Given the description of an element on the screen output the (x, y) to click on. 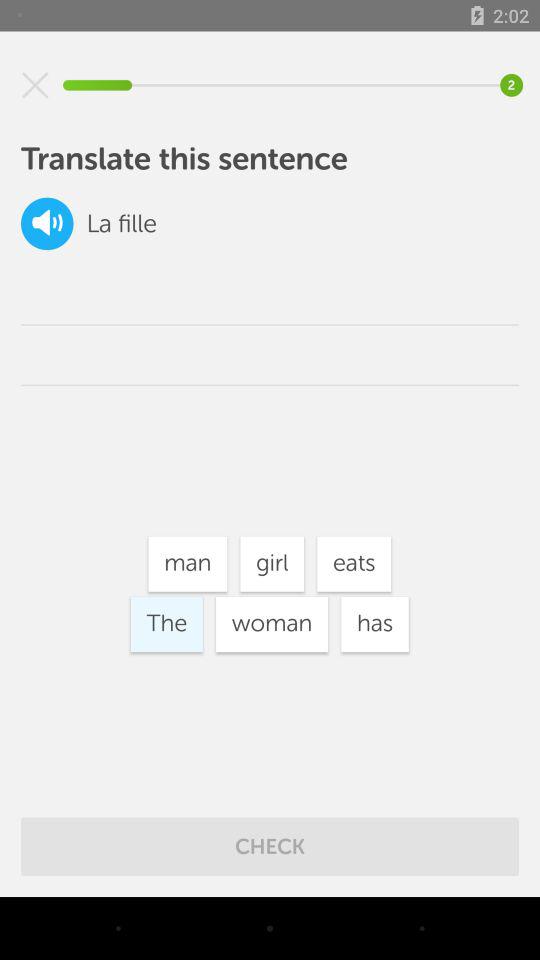
press item to the left of has item (272, 624)
